Given the description of an element on the screen output the (x, y) to click on. 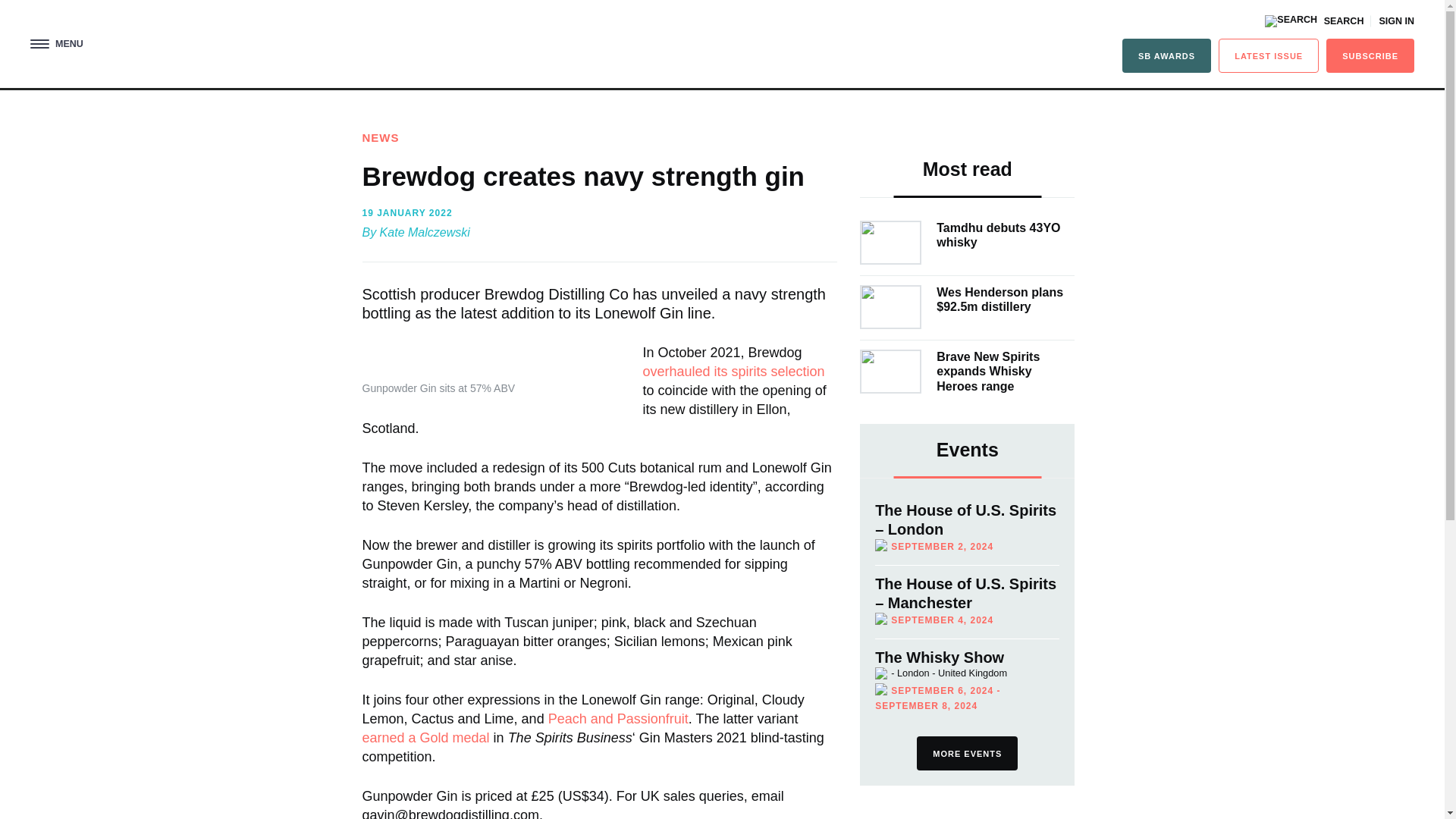
SB AWARDS (1166, 55)
LATEST ISSUE (1268, 55)
MENU (56, 44)
SEARCH (1313, 21)
SIGN IN (1395, 21)
The Spirits Business (722, 46)
SUBSCRIBE (1369, 55)
